Given the description of an element on the screen output the (x, y) to click on. 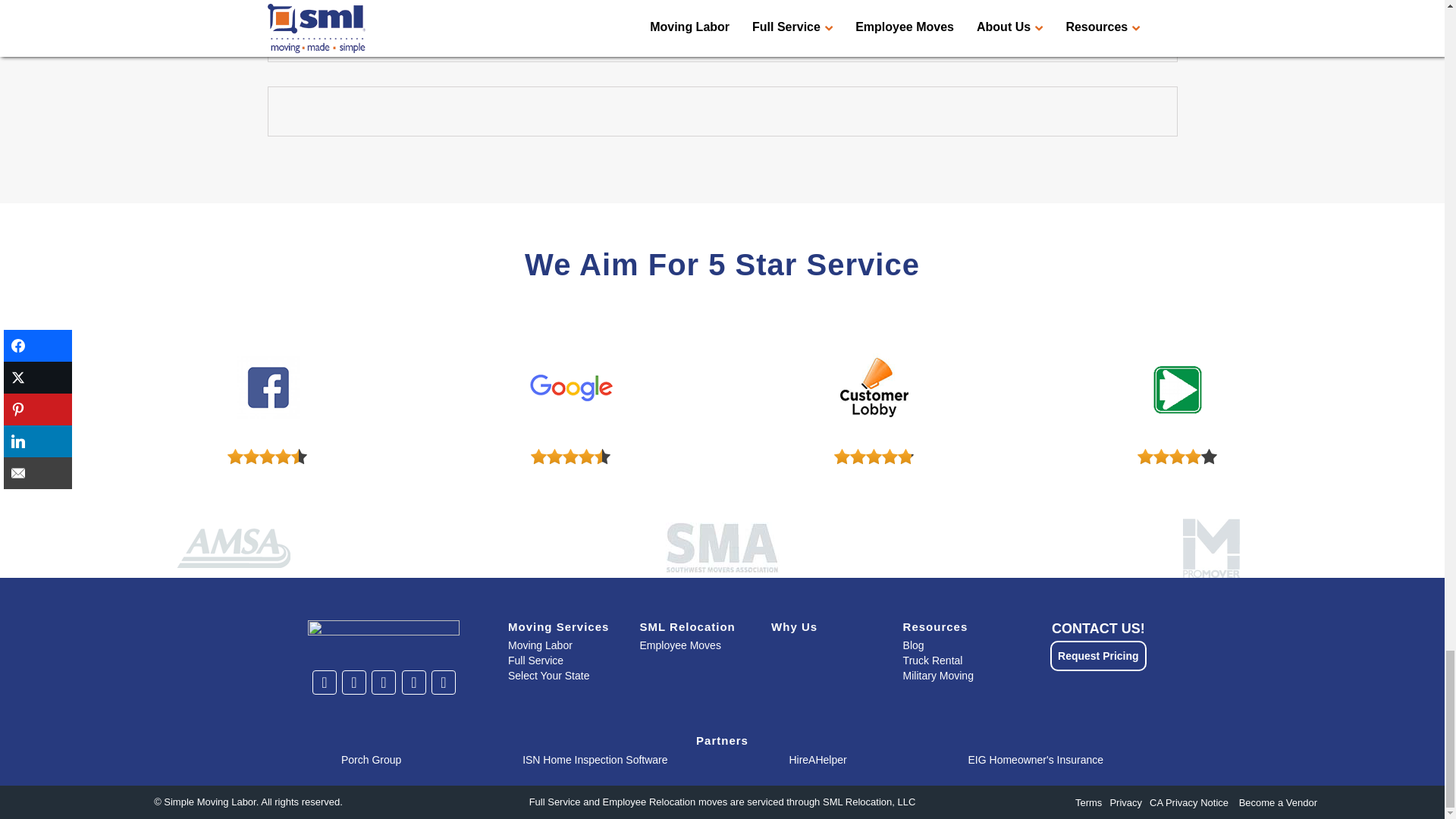
Visit us on LinkedIn (383, 681)
Visit us on Instagram (413, 681)
Visit us on Twitter (323, 681)
Visit us on Facebook (353, 681)
Subscribe to our Feed (443, 681)
